Given the description of an element on the screen output the (x, y) to click on. 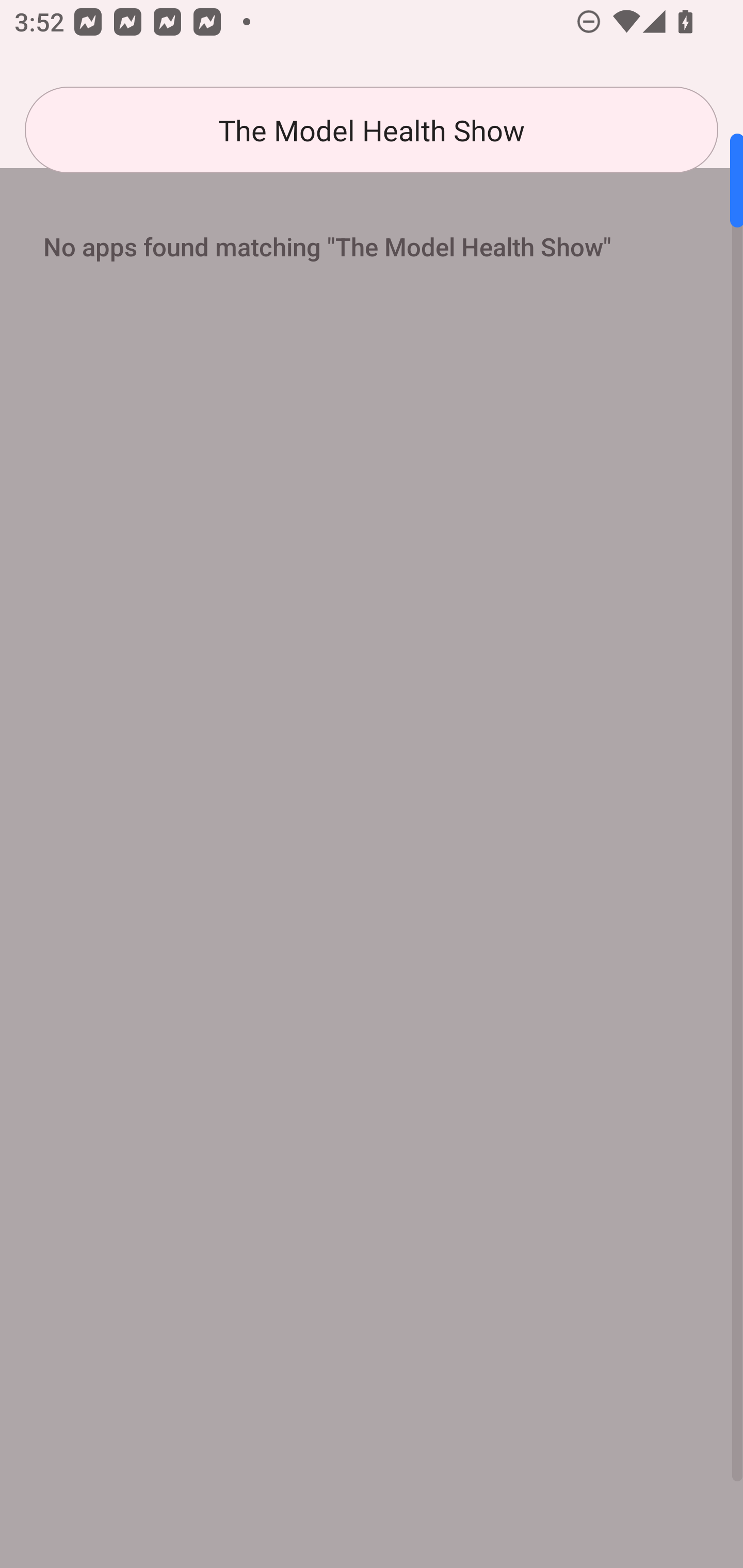
The Model Health Show (371, 130)
